Given the description of an element on the screen output the (x, y) to click on. 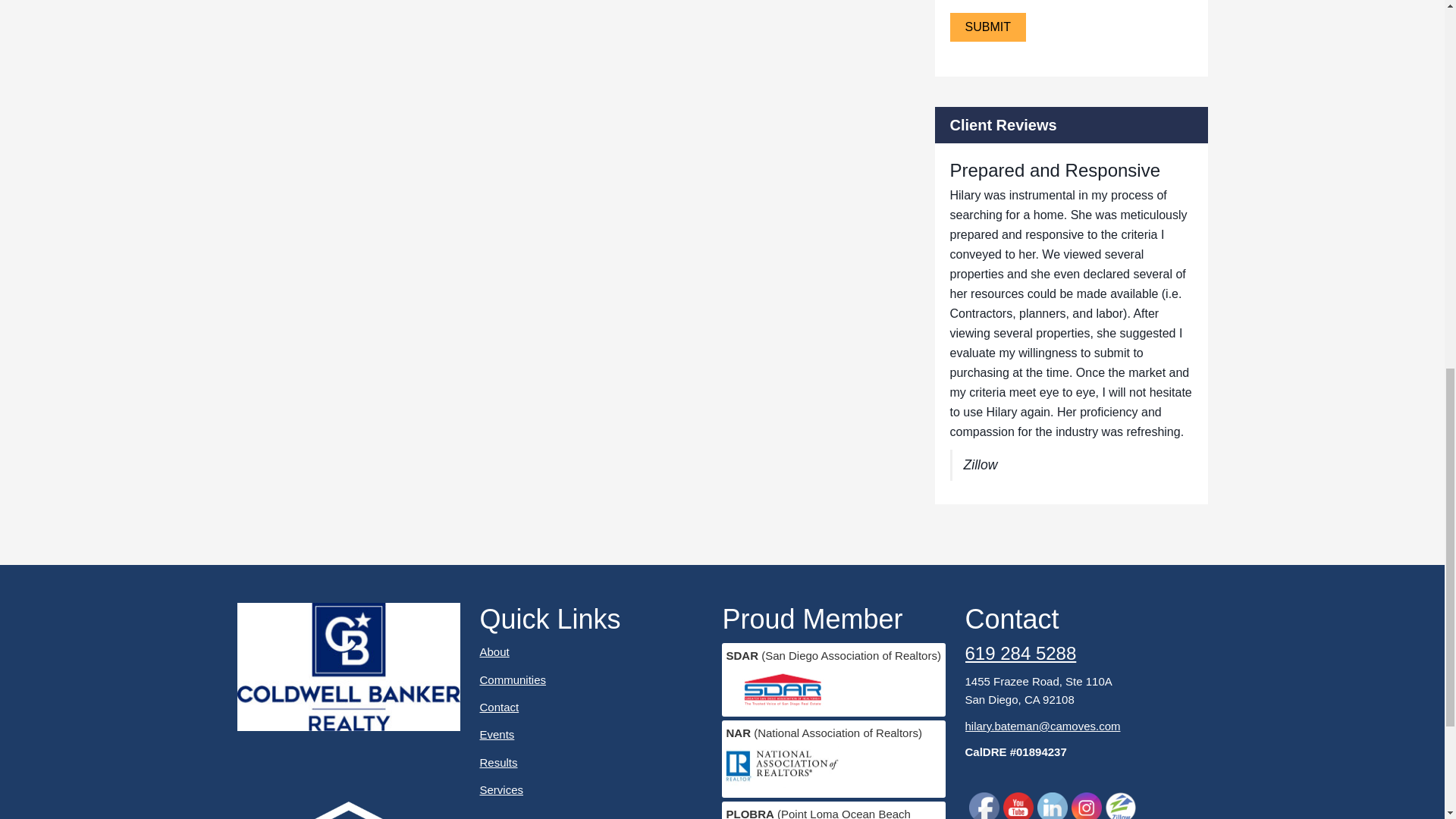
LinkedIn (1051, 805)
Submit (987, 27)
Facebook (983, 805)
